Given the description of an element on the screen output the (x, y) to click on. 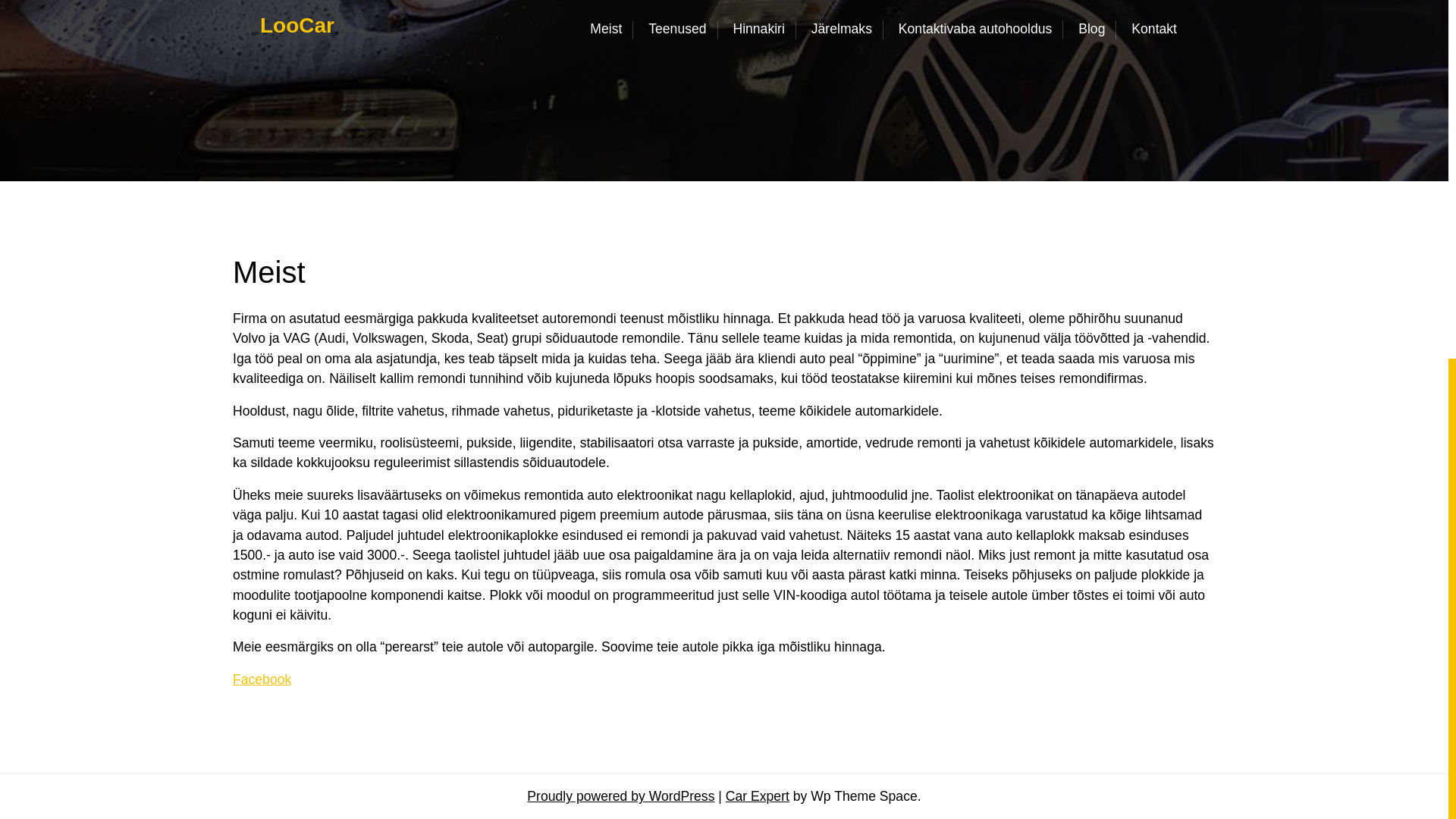
Facebook (261, 679)
Proudly powered by WordPress (620, 795)
Car Expert (757, 795)
